Given the description of an element on the screen output the (x, y) to click on. 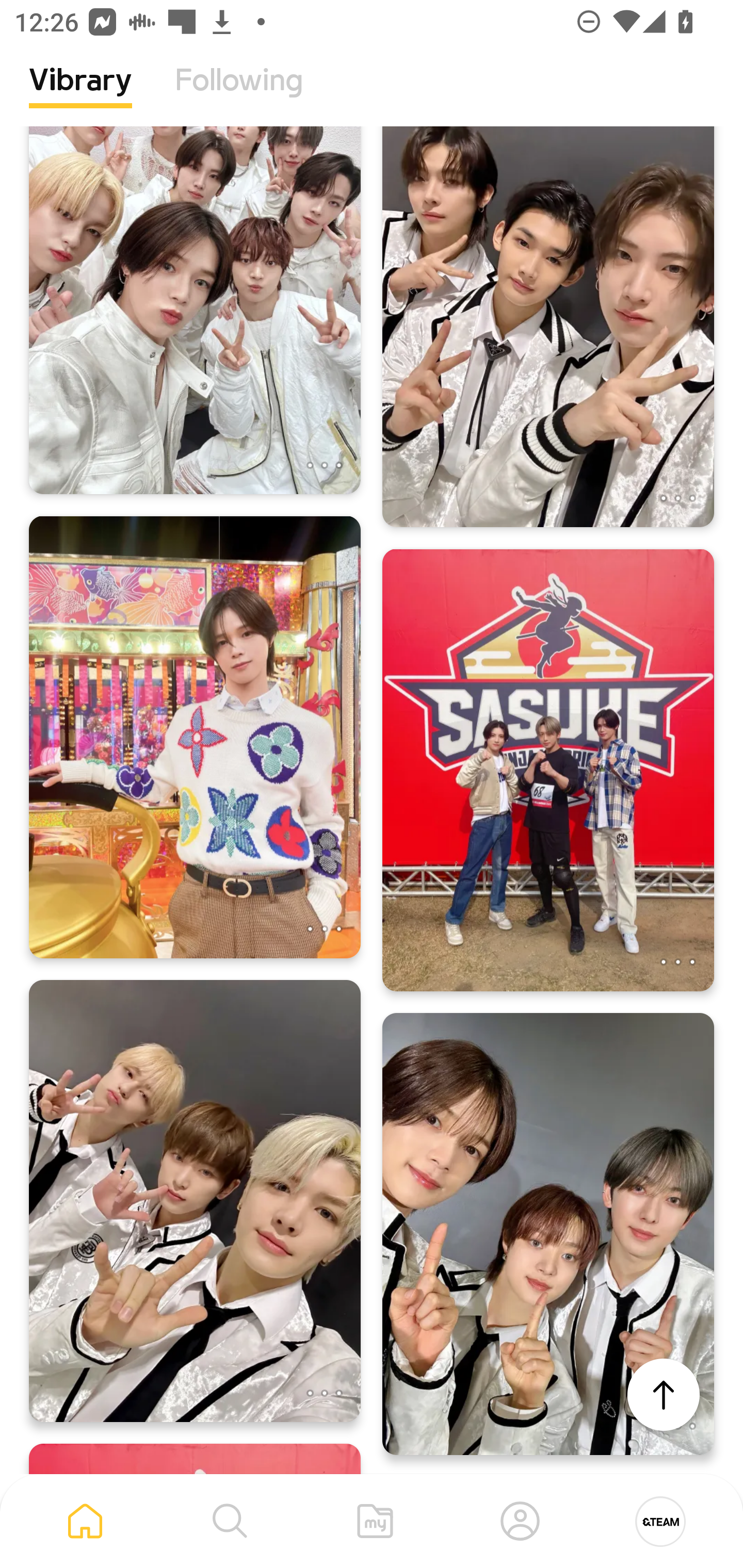
Vibrary (80, 95)
Following (239, 95)
